Given the description of an element on the screen output the (x, y) to click on. 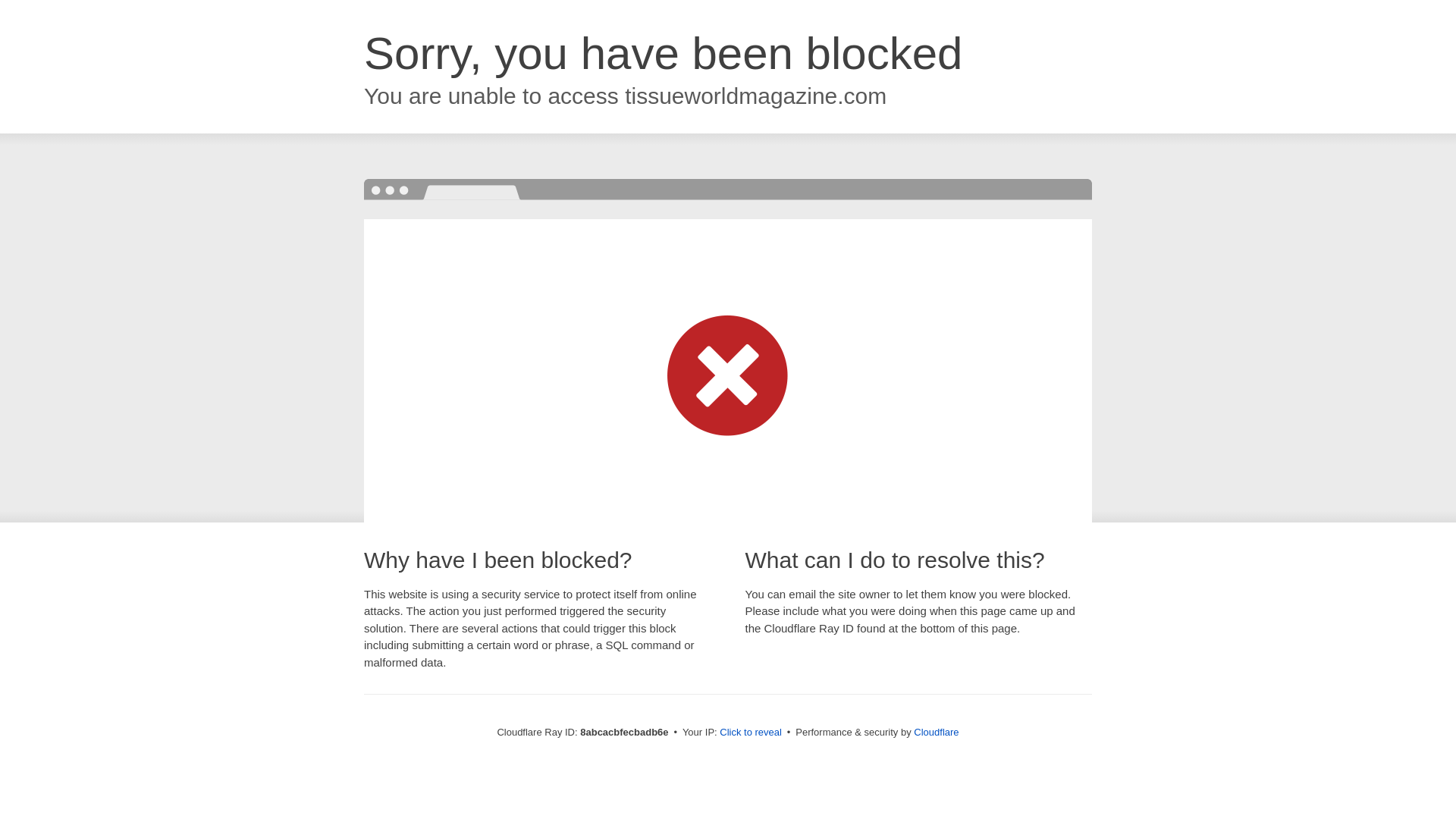
Cloudflare (936, 731)
Click to reveal (750, 732)
